Given the description of an element on the screen output the (x, y) to click on. 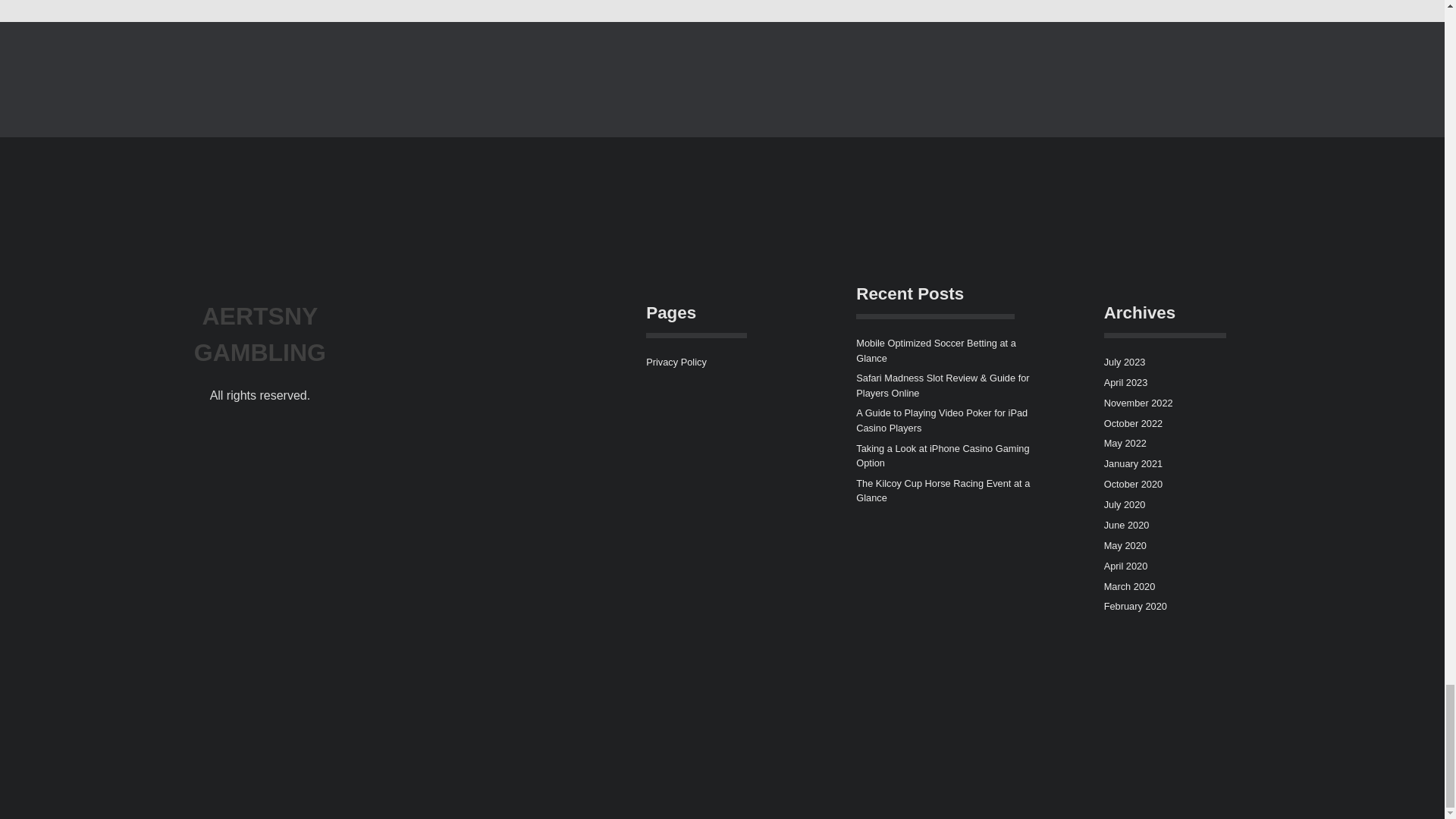
The Kilcoy Cup Horse Racing Event at a Glance (942, 490)
July 2020 (1124, 504)
July 2023 (1124, 361)
A Guide to Playing Video Poker for iPad Casino Players (941, 420)
Mobile Optimized Soccer Betting at a Glance (936, 350)
April 2023 (1125, 382)
Taking a Look at iPhone Casino Gaming Option (942, 455)
January 2021 (1133, 463)
October 2020 (1133, 483)
Privacy Policy (676, 361)
